Given the description of an element on the screen output the (x, y) to click on. 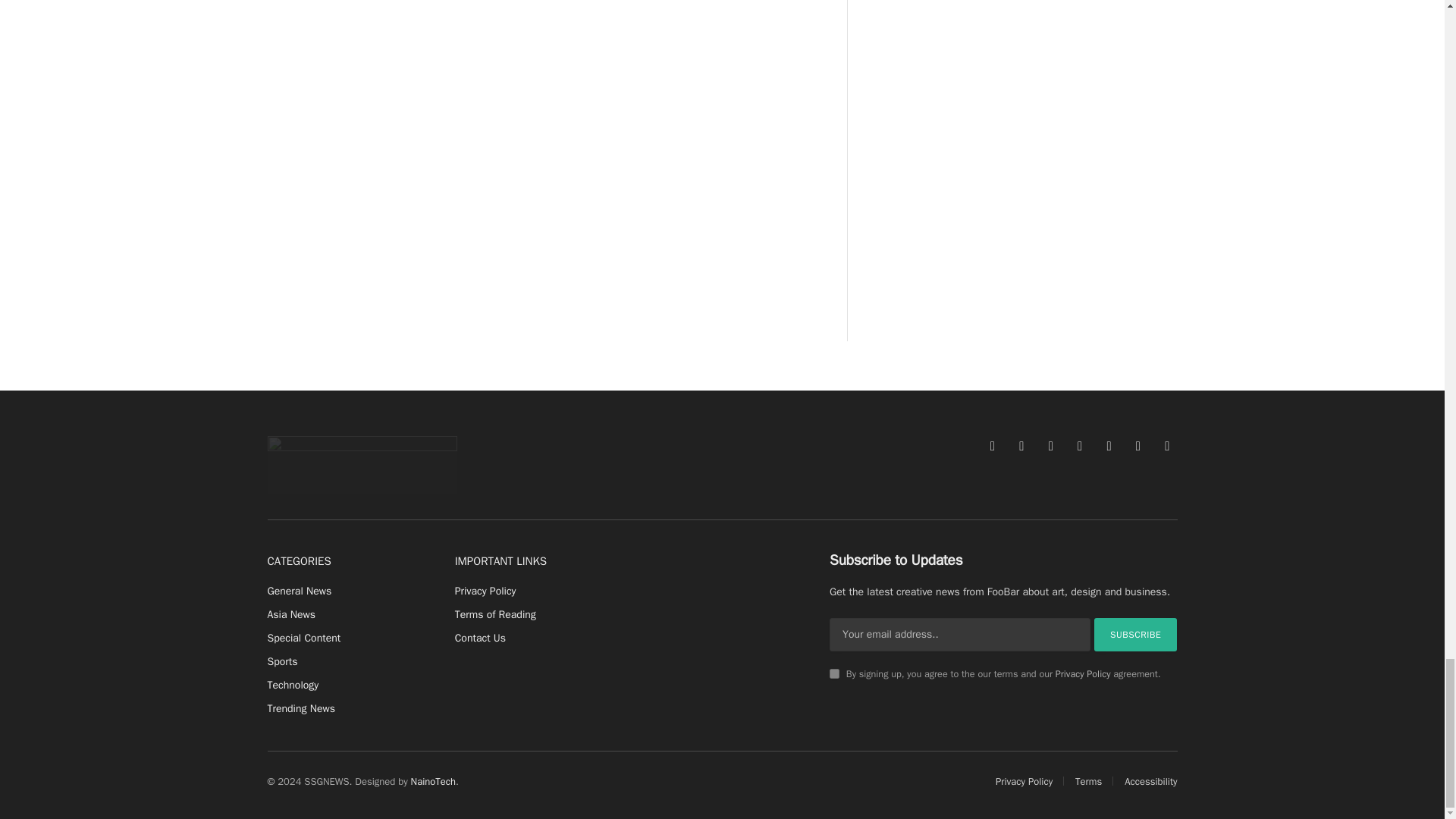
on (834, 673)
Subscribe (1135, 634)
